Given the description of an element on the screen output the (x, y) to click on. 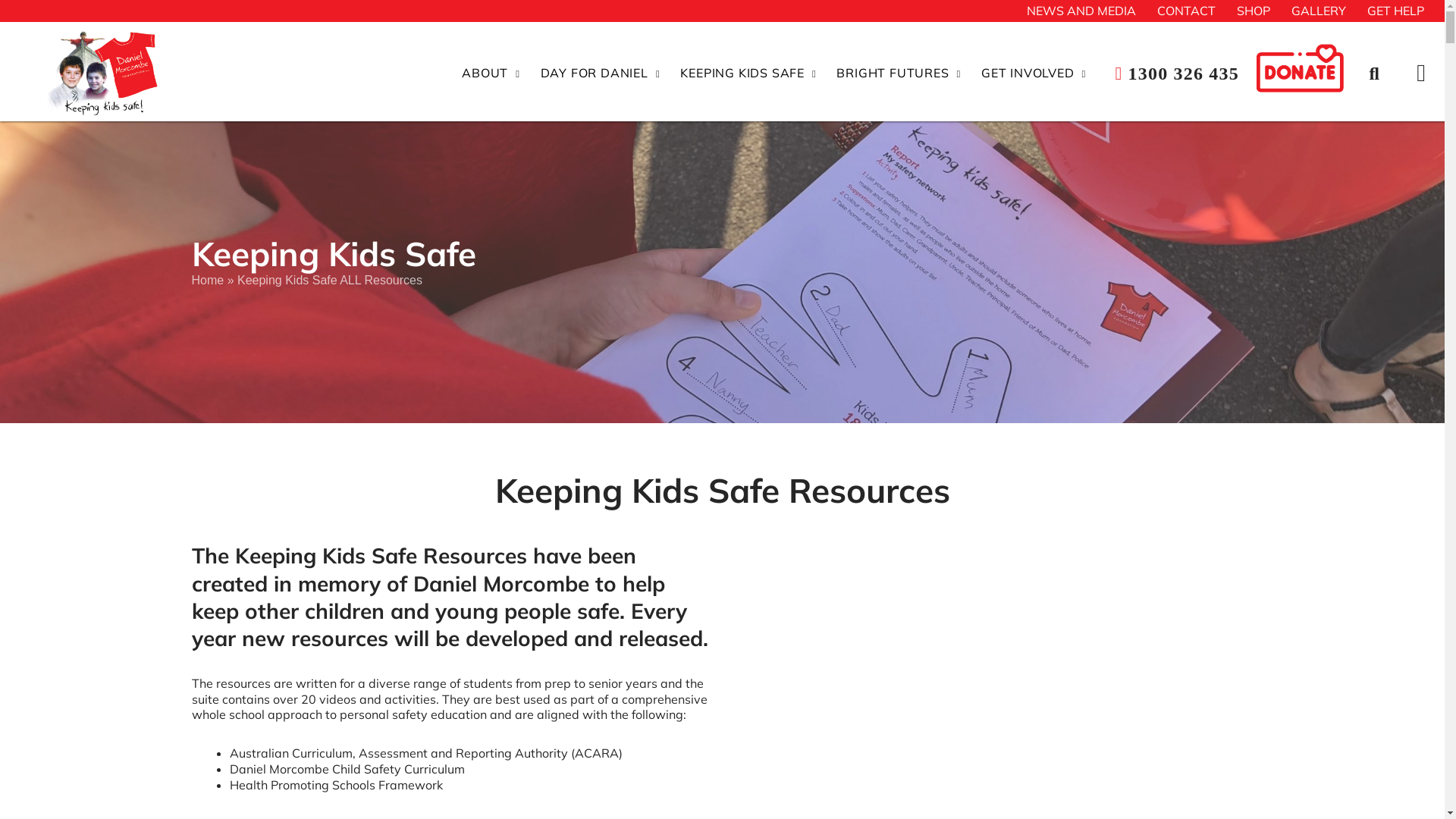
Home Element type: text (207, 279)
GET HELP Element type: text (1395, 10)
Donate Now Element type: hover (1307, 74)
CONTACT Element type: text (1186, 10)
DAY FOR DANIEL Element type: text (600, 74)
The Daniel Morcombe Foundation Element type: text (61, 125)
GET INVOLVED Element type: text (1033, 74)
GALLERY Element type: text (1318, 10)
SHOP Element type: text (1253, 10)
KEEPING KIDS SAFE Element type: text (748, 74)
ABOUT Element type: text (490, 74)
NEWS AND MEDIA Element type: text (1080, 10)
View your shopping cart Element type: hover (1420, 72)
1300 326 435 Element type: text (1177, 74)
BRIGHT FUTURES Element type: text (898, 74)
Site Search Element type: hover (1380, 74)
